Given the description of an element on the screen output the (x, y) to click on. 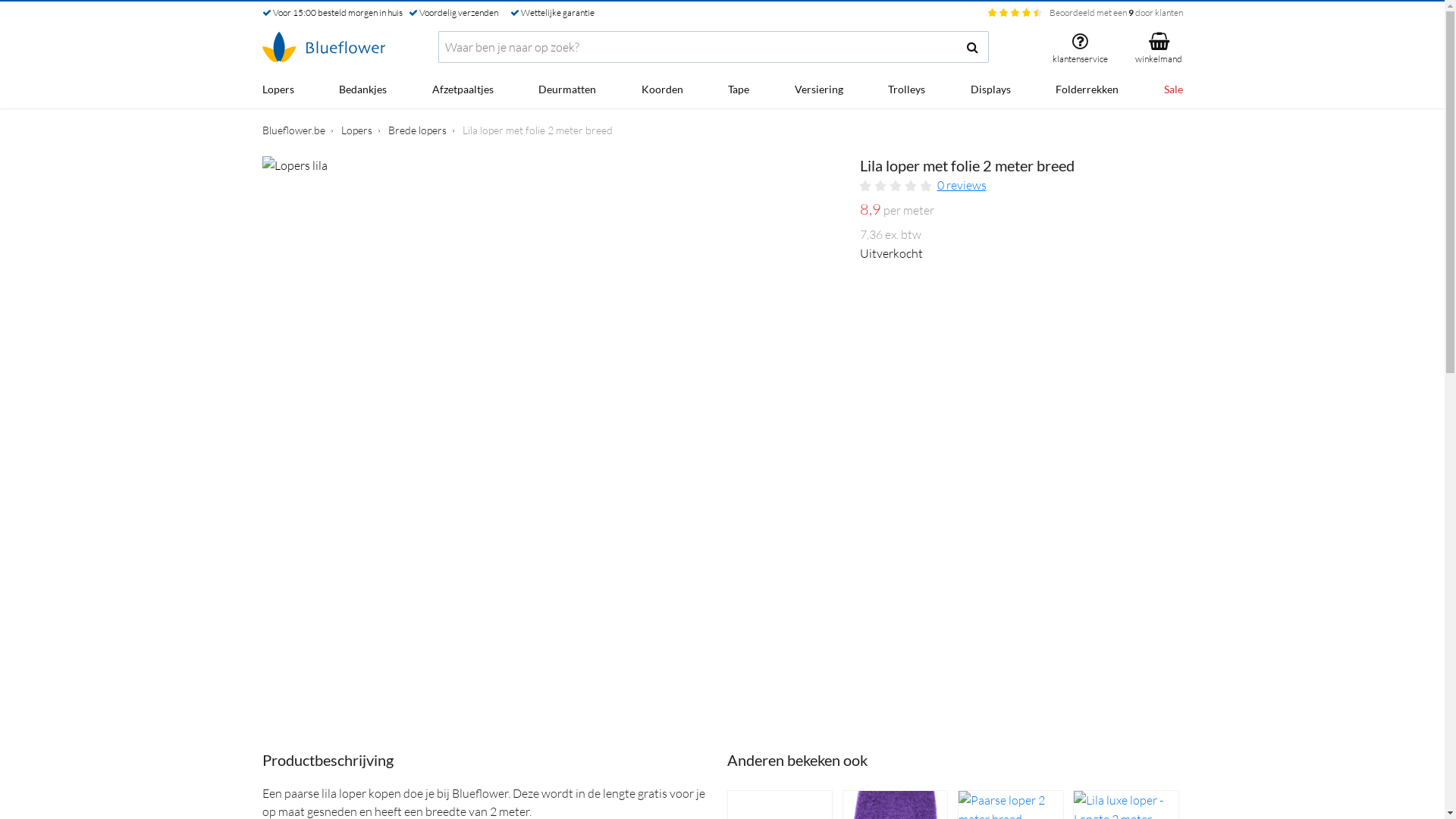
Brede lopers Element type: text (417, 129)
Displays Element type: text (990, 91)
Blueflower.be Element type: text (293, 129)
winkelmand Element type: text (1151, 46)
Sale Element type: text (1172, 91)
Tape Element type: text (738, 91)
klantenservice Element type: text (1080, 46)
Koorden Element type: text (662, 91)
Lila loper met folie 2 meter breed Element type: text (537, 129)
Folderrekken Element type: text (1086, 91)
Lopers Element type: text (356, 129)
Bedankjes Element type: text (362, 91)
Afzetpaaltjes Element type: text (462, 91)
0 reviews Element type: text (961, 185)
Lopers Element type: text (278, 91)
Naar home Element type: hover (323, 46)
Deurmatten Element type: text (567, 91)
Trolleys Element type: text (906, 91)
Versiering Element type: text (818, 91)
Beoordeeld met een 9 door klanten Element type: text (1116, 12)
